Given the description of an element on the screen output the (x, y) to click on. 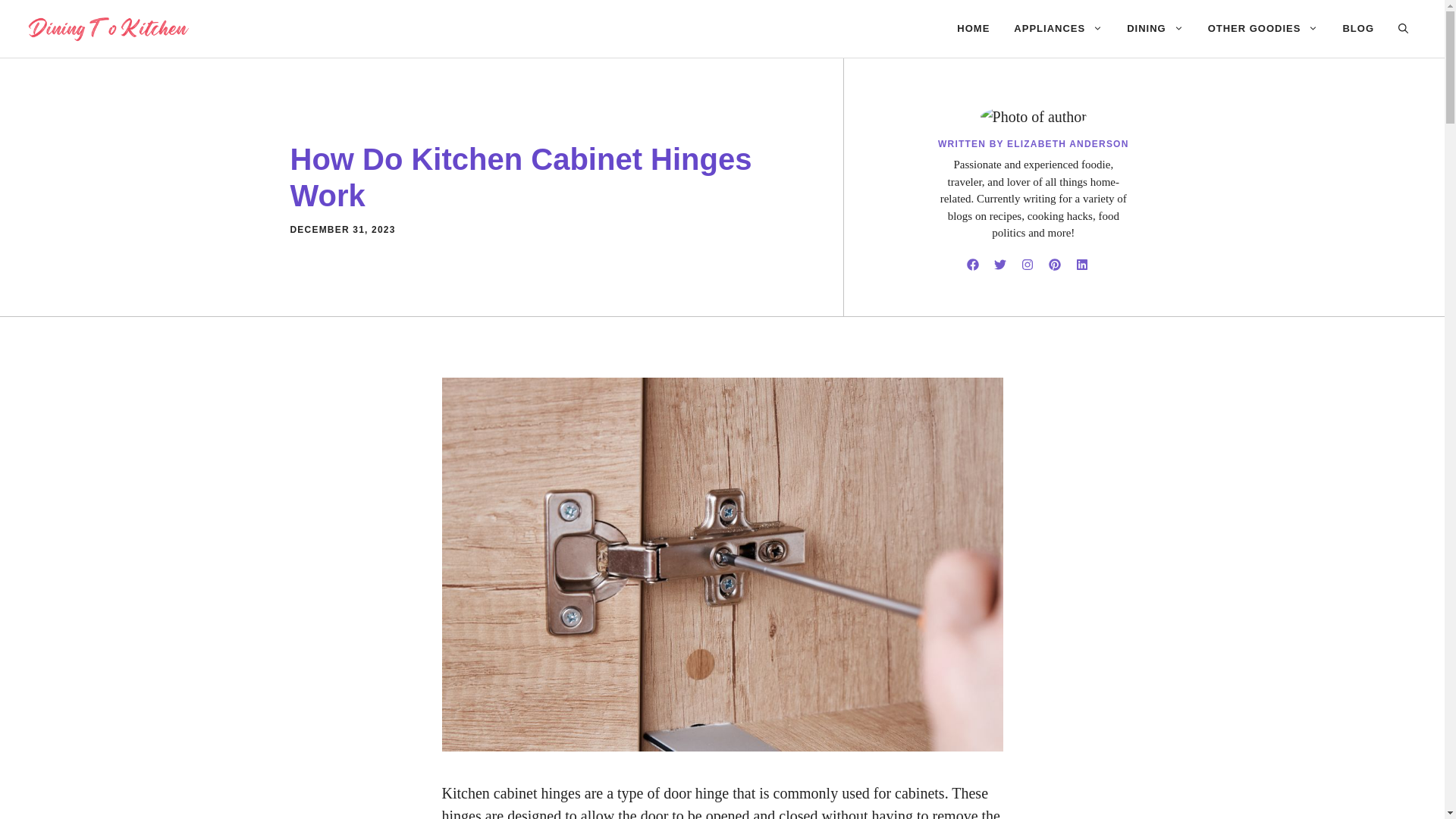
OTHER GOODIES (1262, 28)
BLOG (1358, 28)
APPLIANCES (1058, 28)
HOME (972, 28)
DINING (1155, 28)
